Given the description of an element on the screen output the (x, y) to click on. 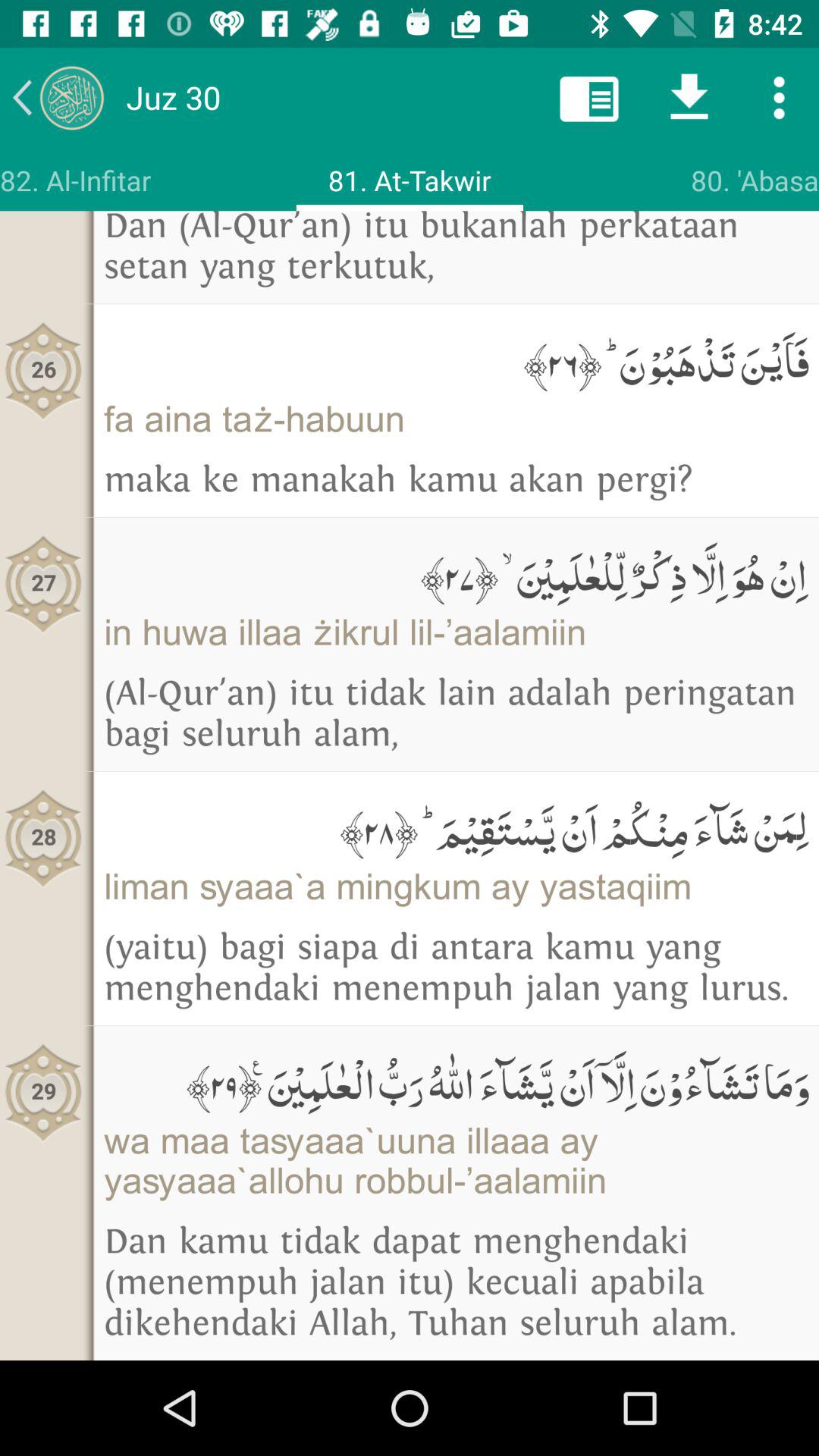
more options (779, 97)
